Given the description of an element on the screen output the (x, y) to click on. 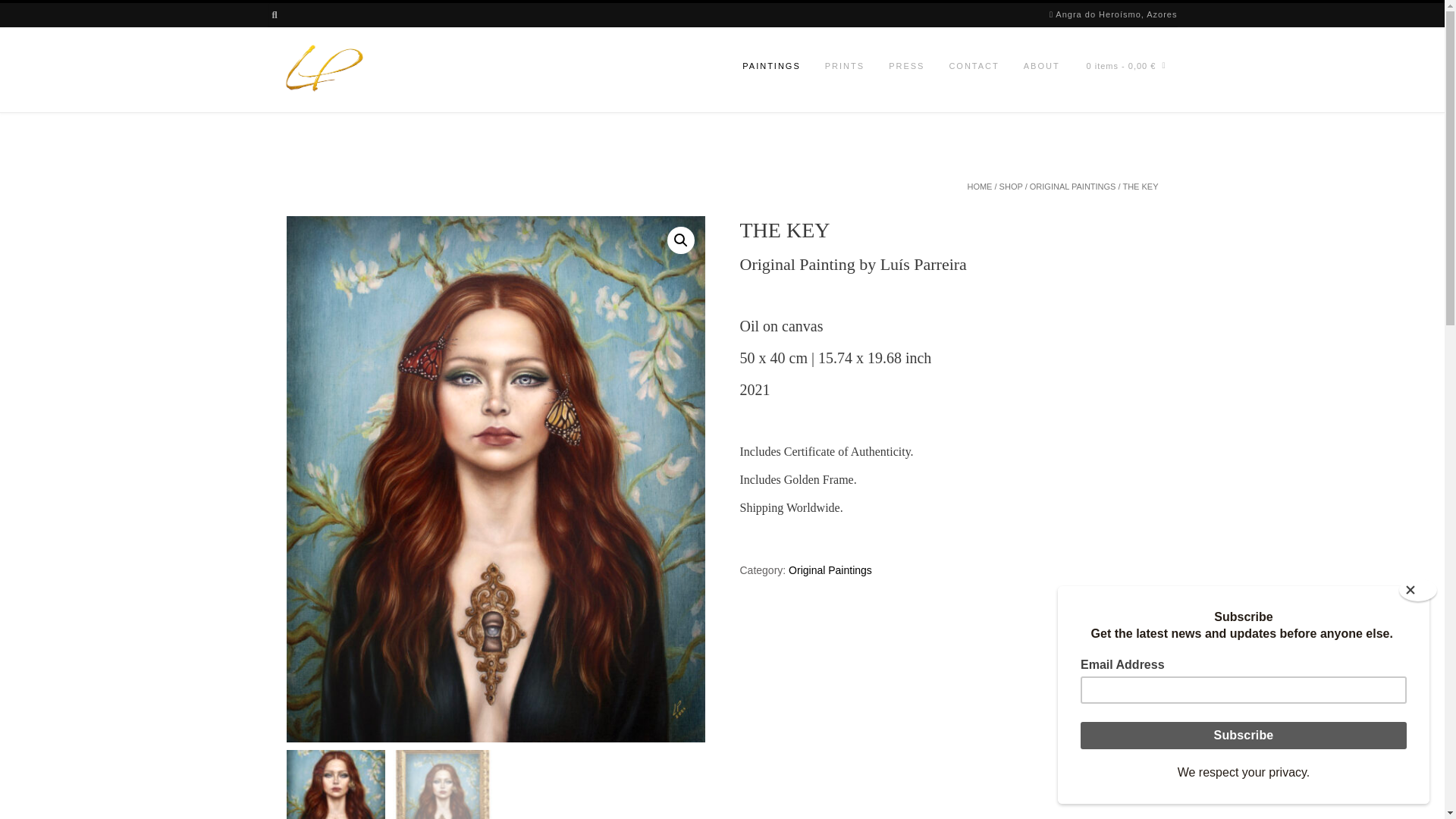
PRINTS (844, 67)
PRESS (906, 67)
Original Paintings (830, 570)
HOME (978, 185)
View your shopping cart (1126, 66)
SHOP (1010, 185)
ORIGINAL PAINTINGS (1072, 185)
ABOUT (1041, 67)
CONTACT (973, 67)
PAINTINGS (771, 67)
